Given the description of an element on the screen output the (x, y) to click on. 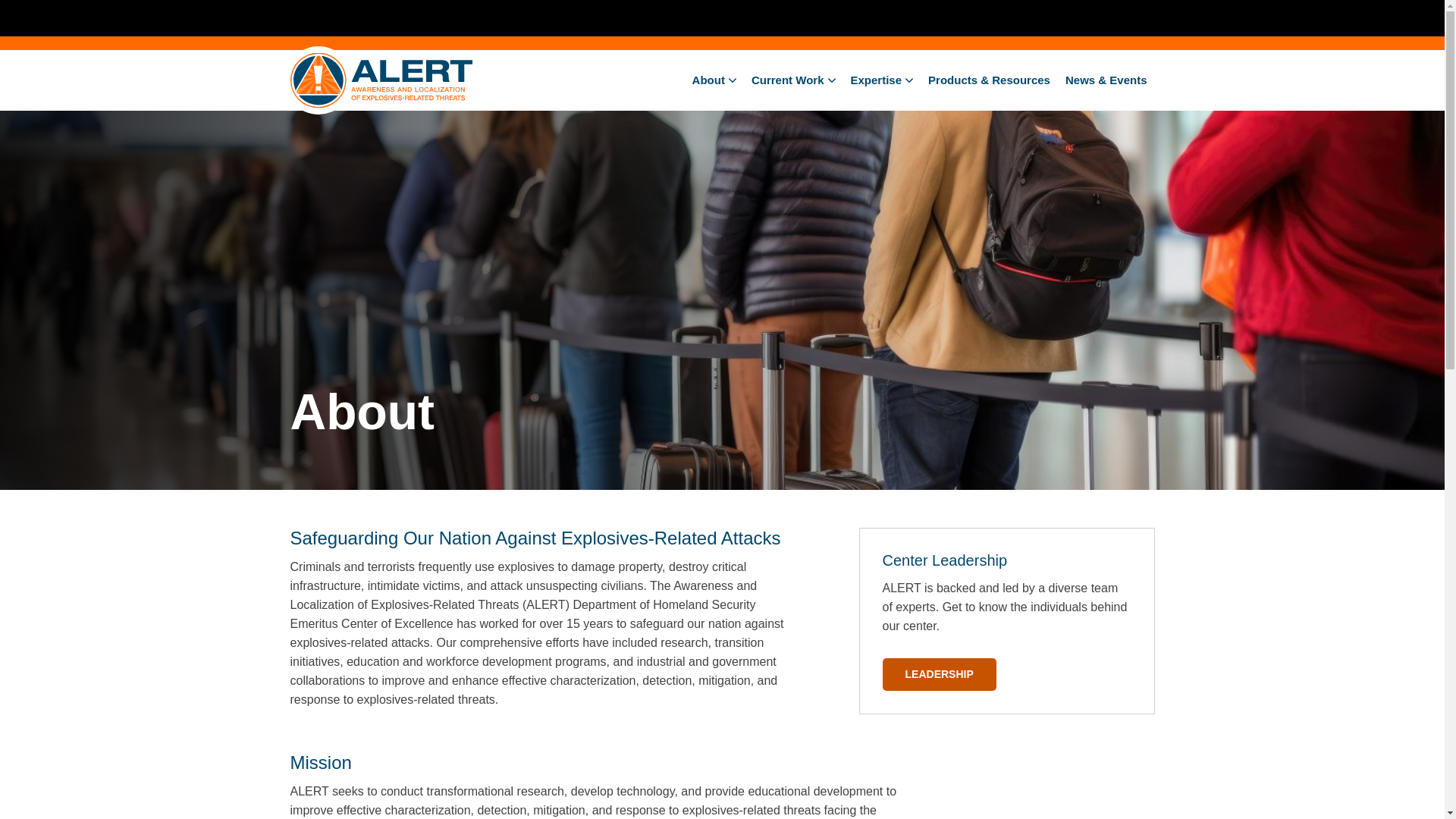
LEADERSHIP (938, 674)
Current Work (793, 80)
Expertise (882, 80)
About (714, 80)
